Given the description of an element on the screen output the (x, y) to click on. 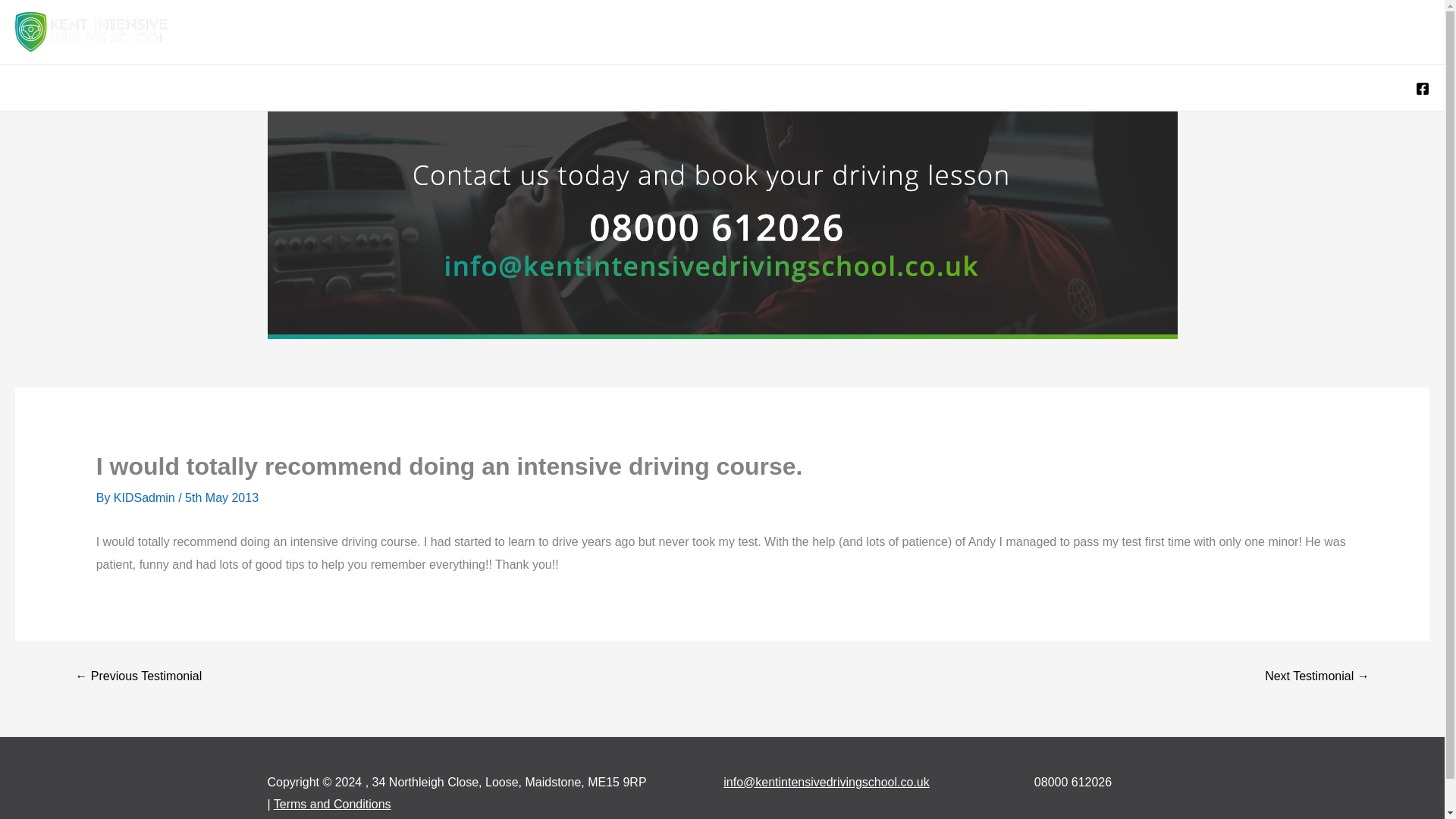
Contact Us (1387, 31)
View all posts by KIDSadmin (145, 497)
Testimonials (1225, 31)
Areas Covered (676, 31)
Instructor Training (1118, 31)
About Us (1308, 31)
Booking Forms (930, 31)
Congratulations Ethan! (133, 225)
Tests (1024, 31)
Home (588, 31)
